Given the description of an element on the screen output the (x, y) to click on. 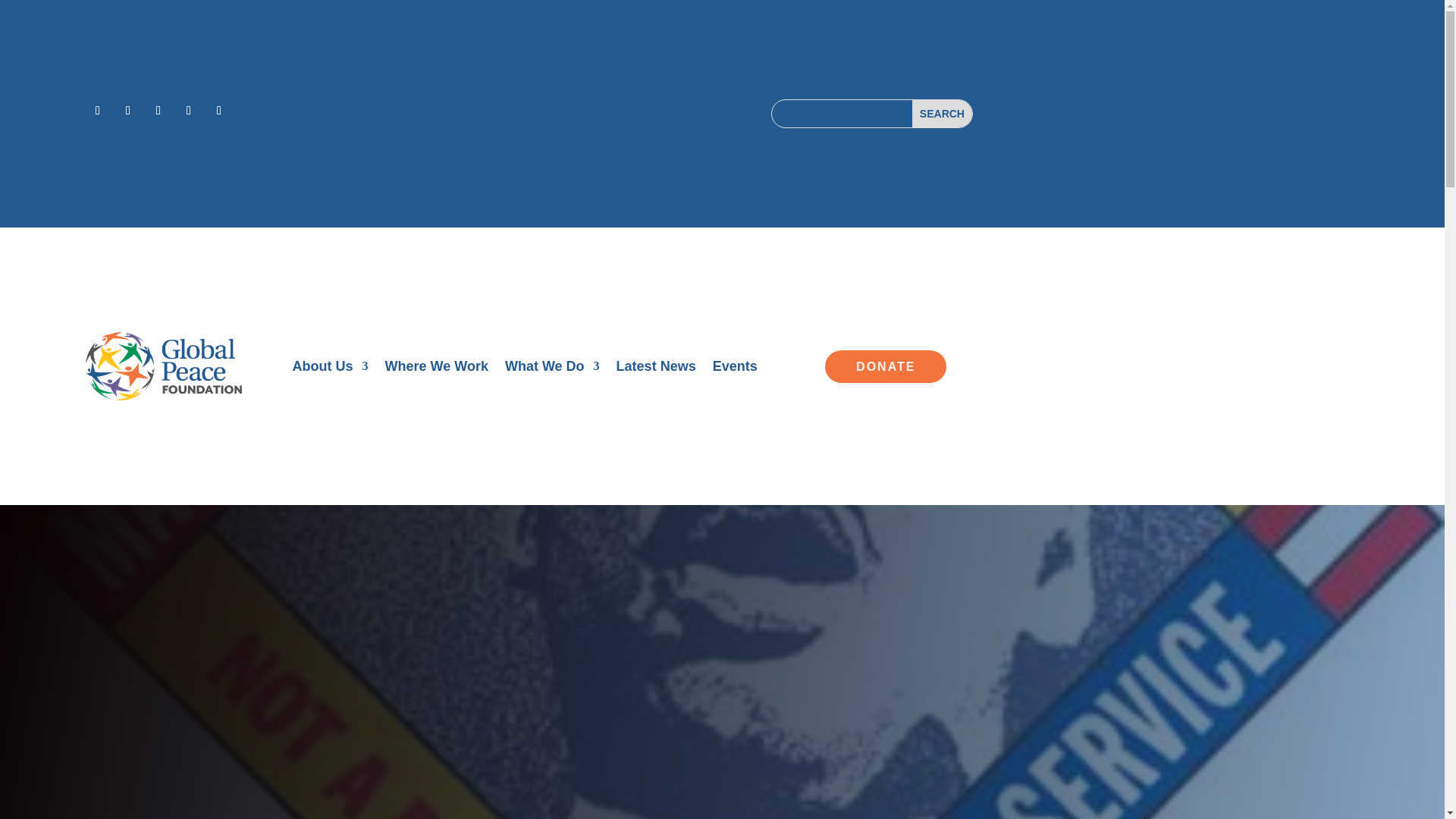
Where We Work (436, 369)
Search (942, 113)
Global Peace Foundation Logo (163, 366)
About Us (330, 369)
Follow on X (127, 110)
Follow on Instagram (158, 110)
Follow on LinkedIn (188, 110)
Search (942, 113)
Events (735, 369)
Follow on Facebook (97, 110)
Search (942, 113)
Latest News (655, 369)
What We Do (552, 369)
DONATE (885, 366)
Follow on Youtube (218, 110)
